Given the description of an element on the screen output the (x, y) to click on. 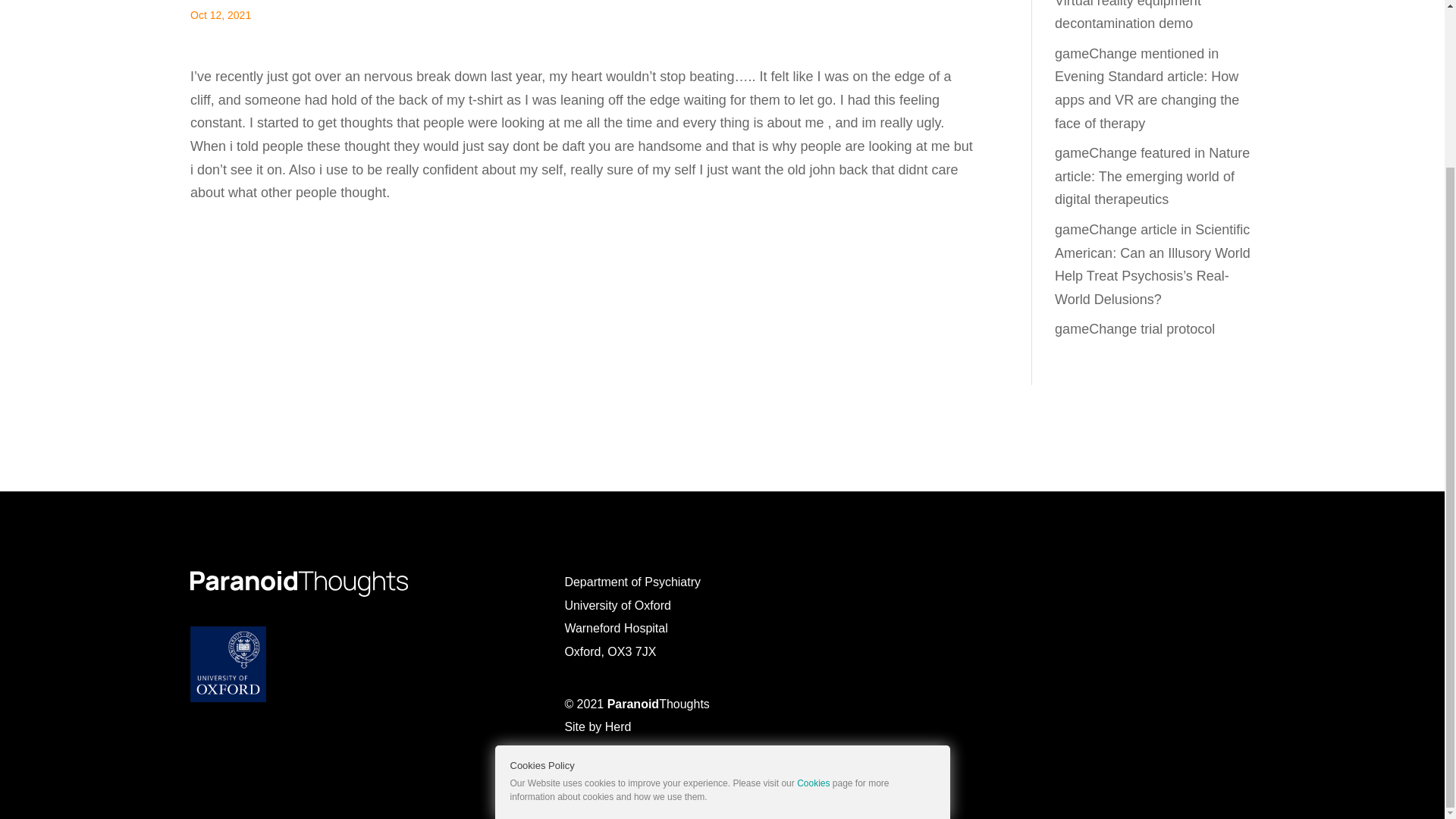
Cookies (812, 583)
Virtual reality equipment decontamination demo (1127, 15)
logo (298, 583)
gameChange trial protocol (1134, 328)
Herd (618, 726)
